Given the description of an element on the screen output the (x, y) to click on. 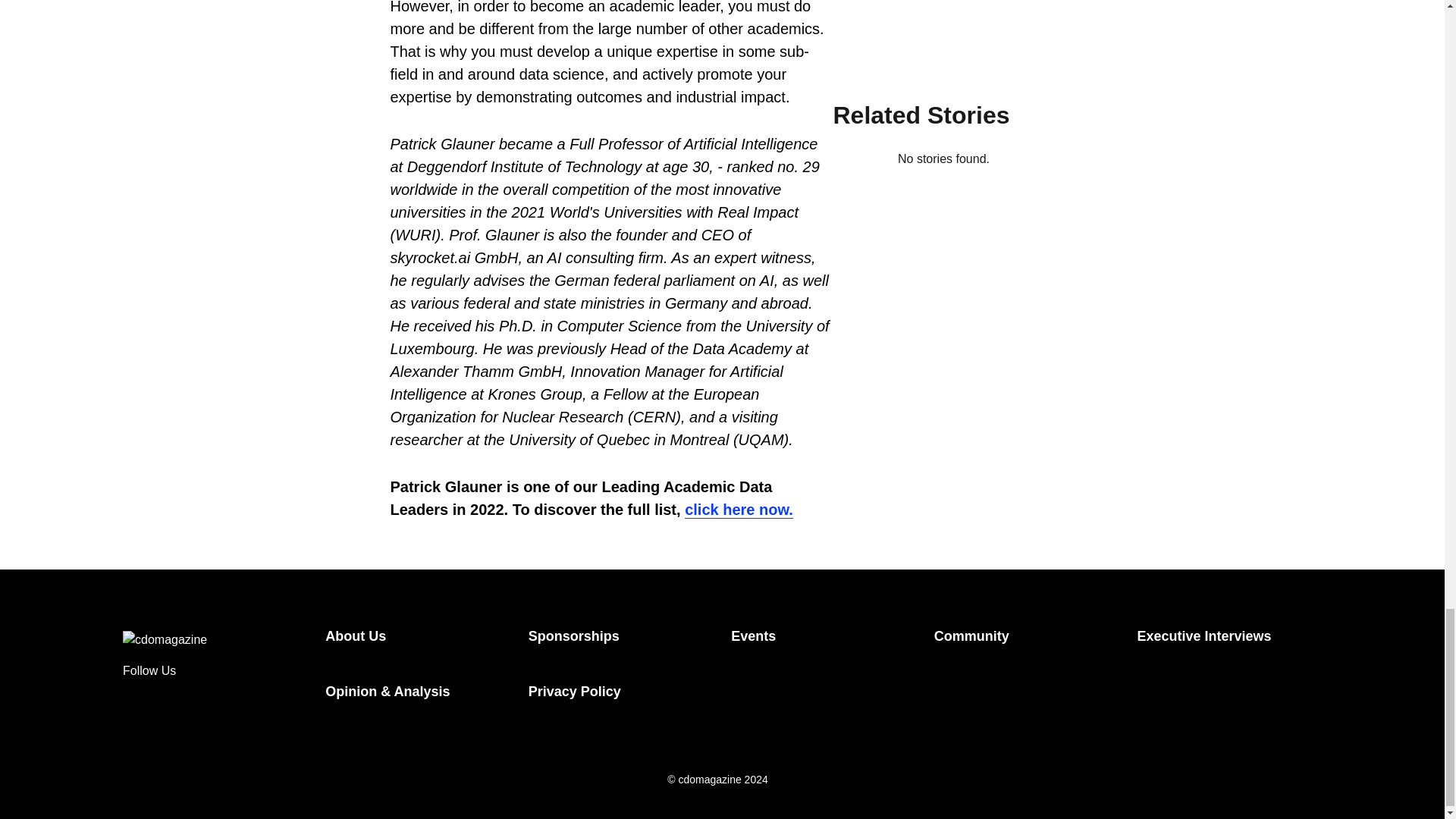
click here now. (738, 509)
